Given the description of an element on the screen output the (x, y) to click on. 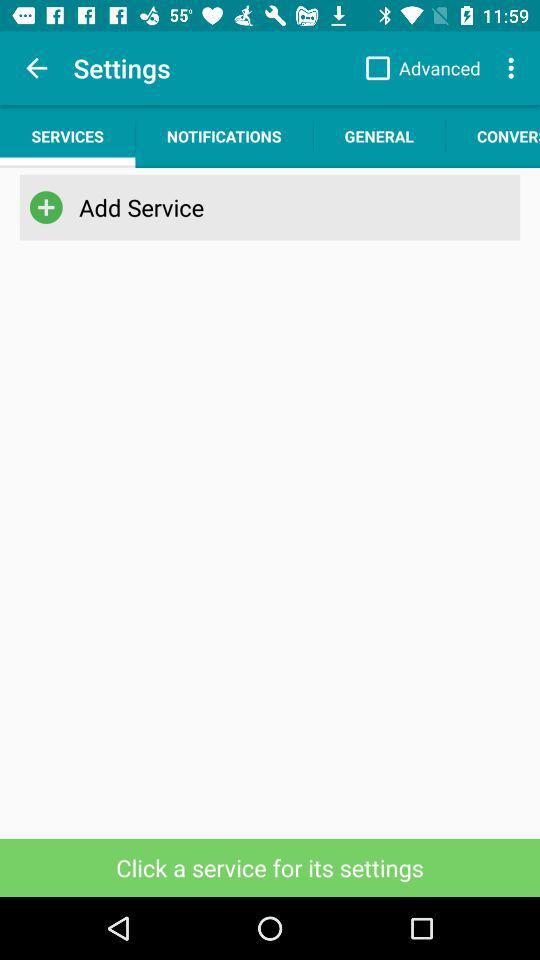
turn off the app above the services icon (36, 68)
